Given the description of an element on the screen output the (x, y) to click on. 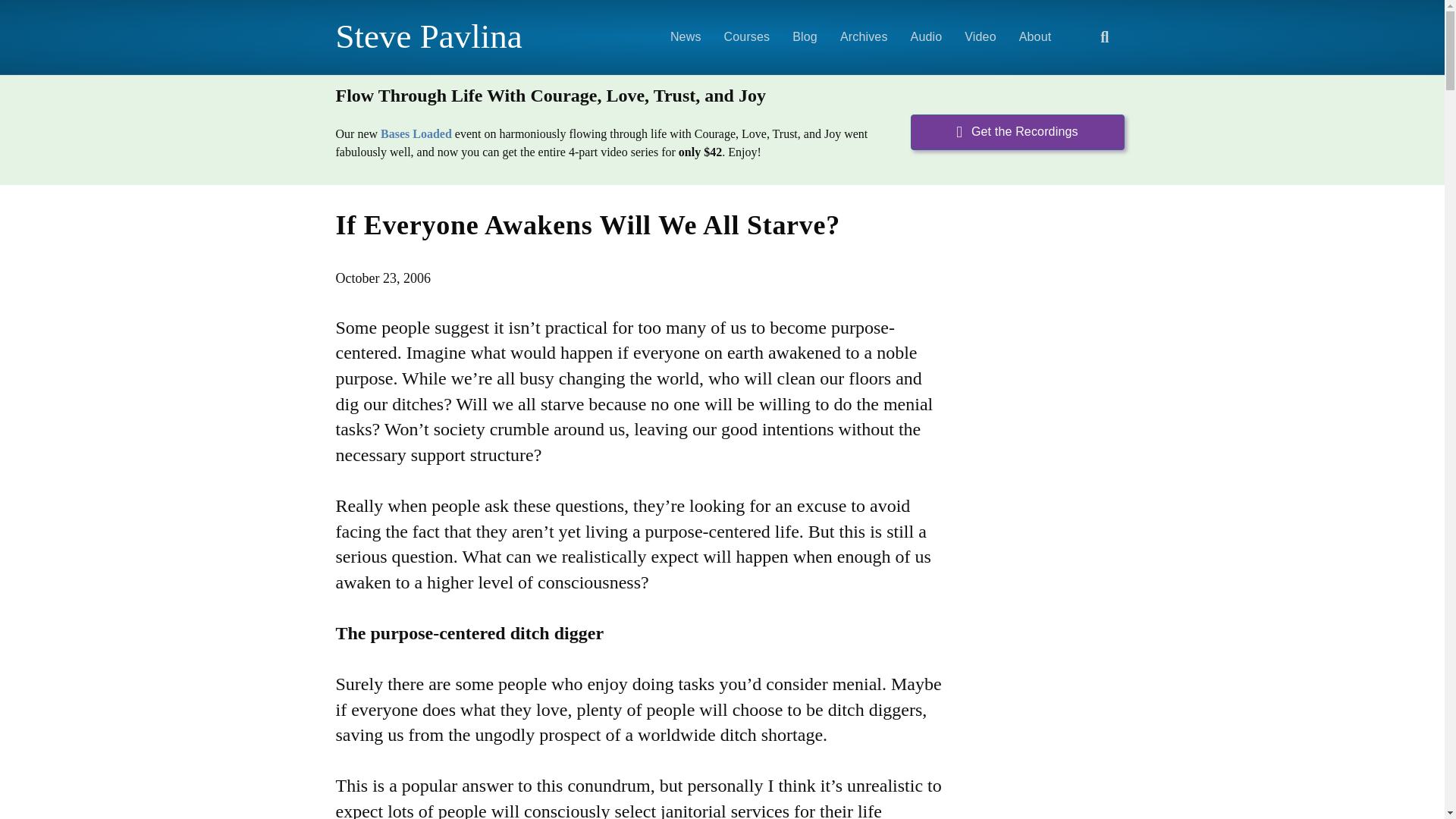
News (686, 36)
Audio (926, 36)
About (1034, 36)
Courses (747, 36)
Steve Pavlina (457, 36)
Archives (863, 36)
Video (980, 36)
Blog (804, 36)
